Given the description of an element on the screen output the (x, y) to click on. 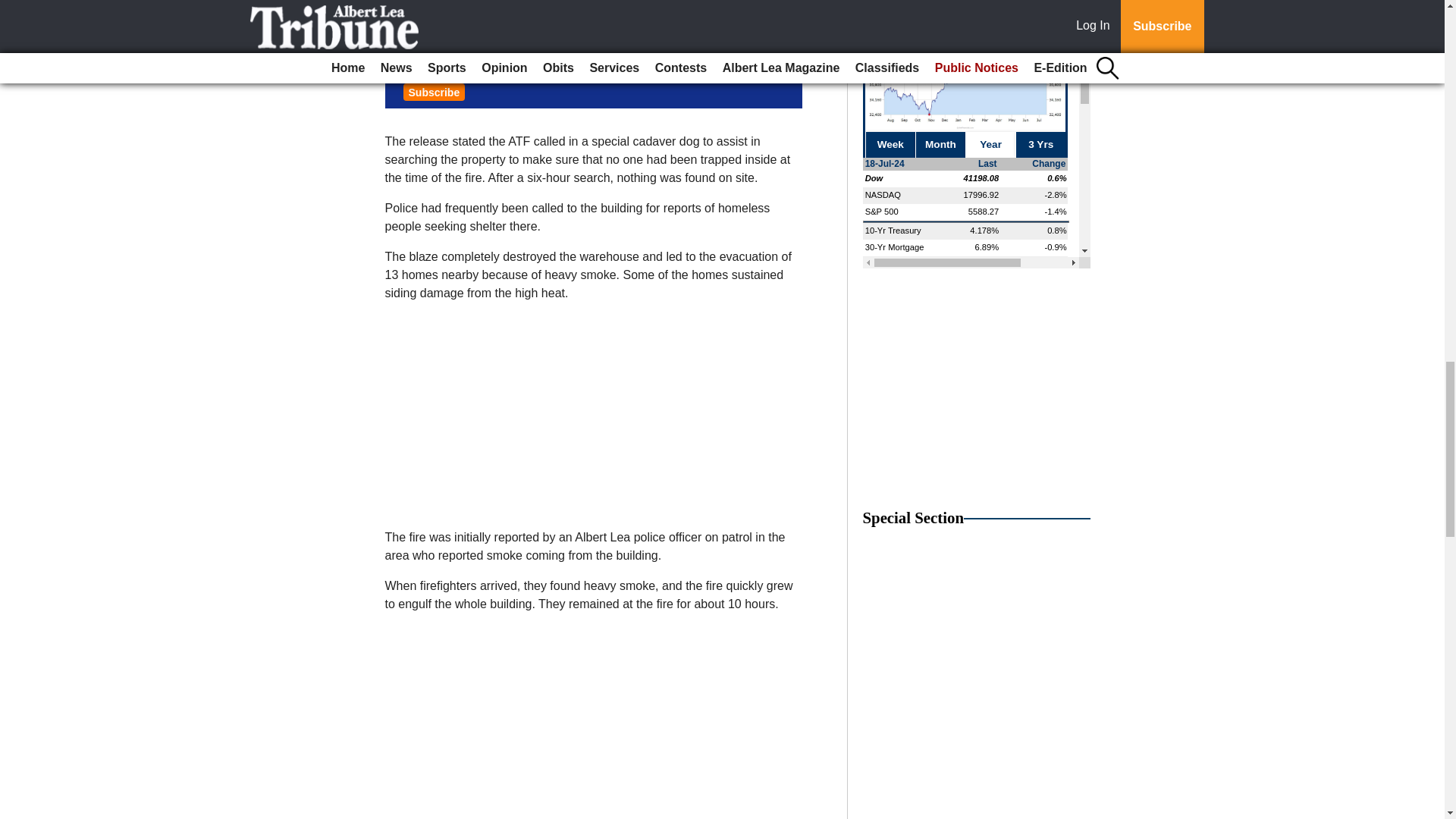
Subscribe (434, 91)
US Market Update (976, 134)
